Given the description of an element on the screen output the (x, y) to click on. 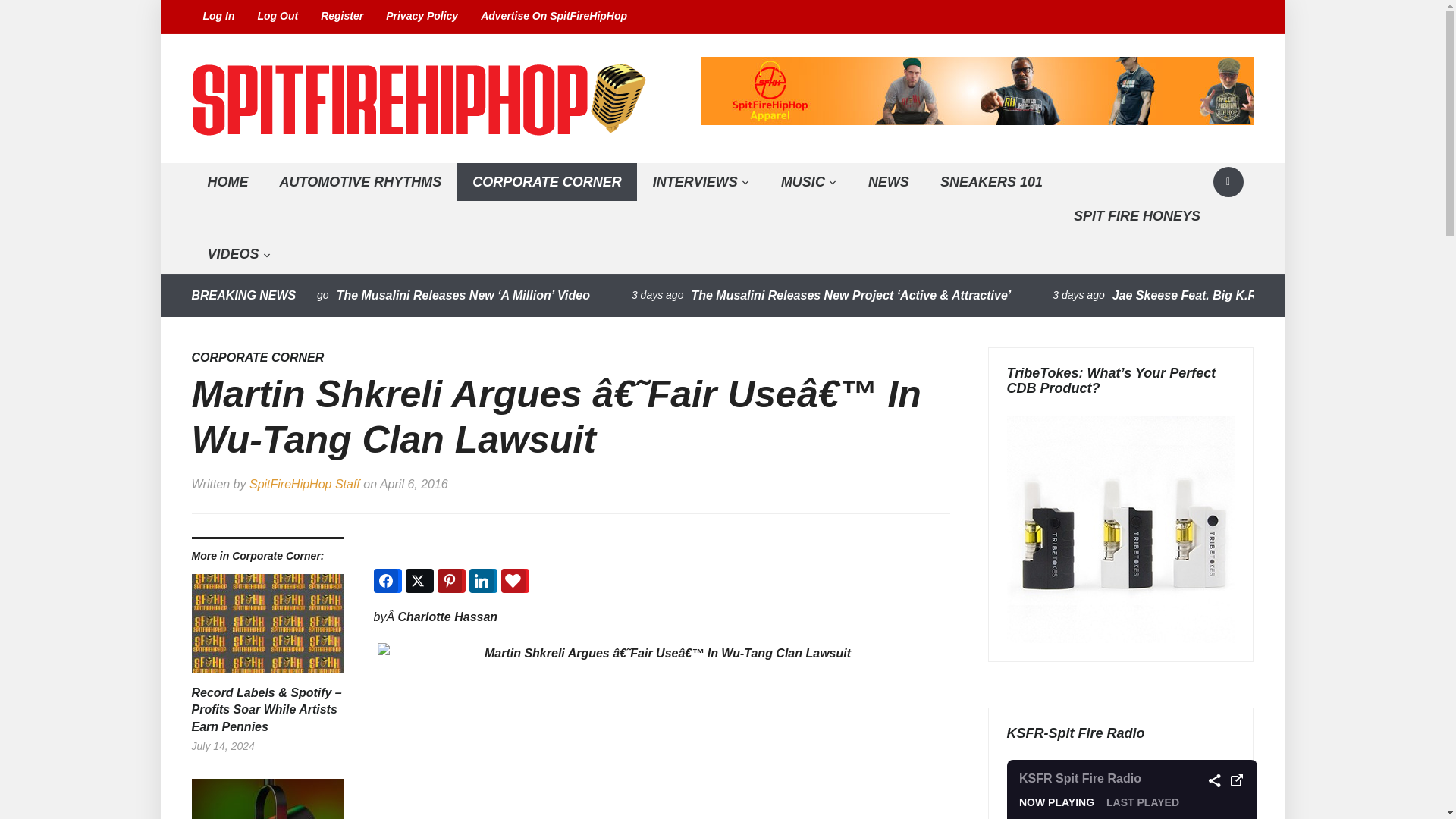
Log Out (277, 16)
Log In (218, 16)
CORPORATE CORNER (547, 181)
Privacy Policy (421, 16)
AUTOMOTIVE RHYTHMS (360, 181)
Search (1227, 182)
Advertise On SpitFireHipHop (553, 16)
HOME (226, 181)
INTERVIEWS (701, 181)
Register (341, 16)
